Given the description of an element on the screen output the (x, y) to click on. 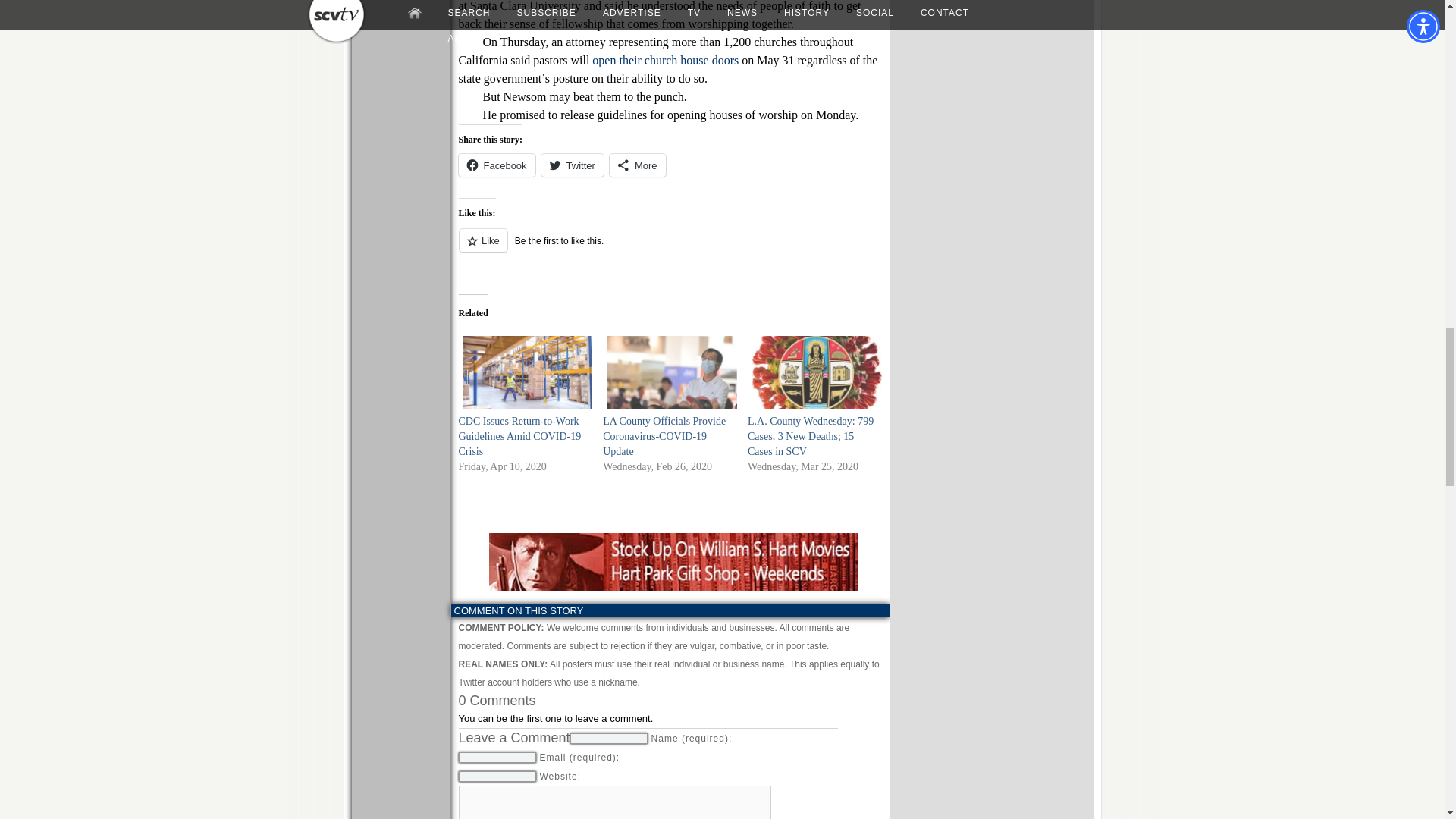
Click to share on Facebook (496, 164)
Click to share on Twitter (572, 164)
